Given the description of an element on the screen output the (x, y) to click on. 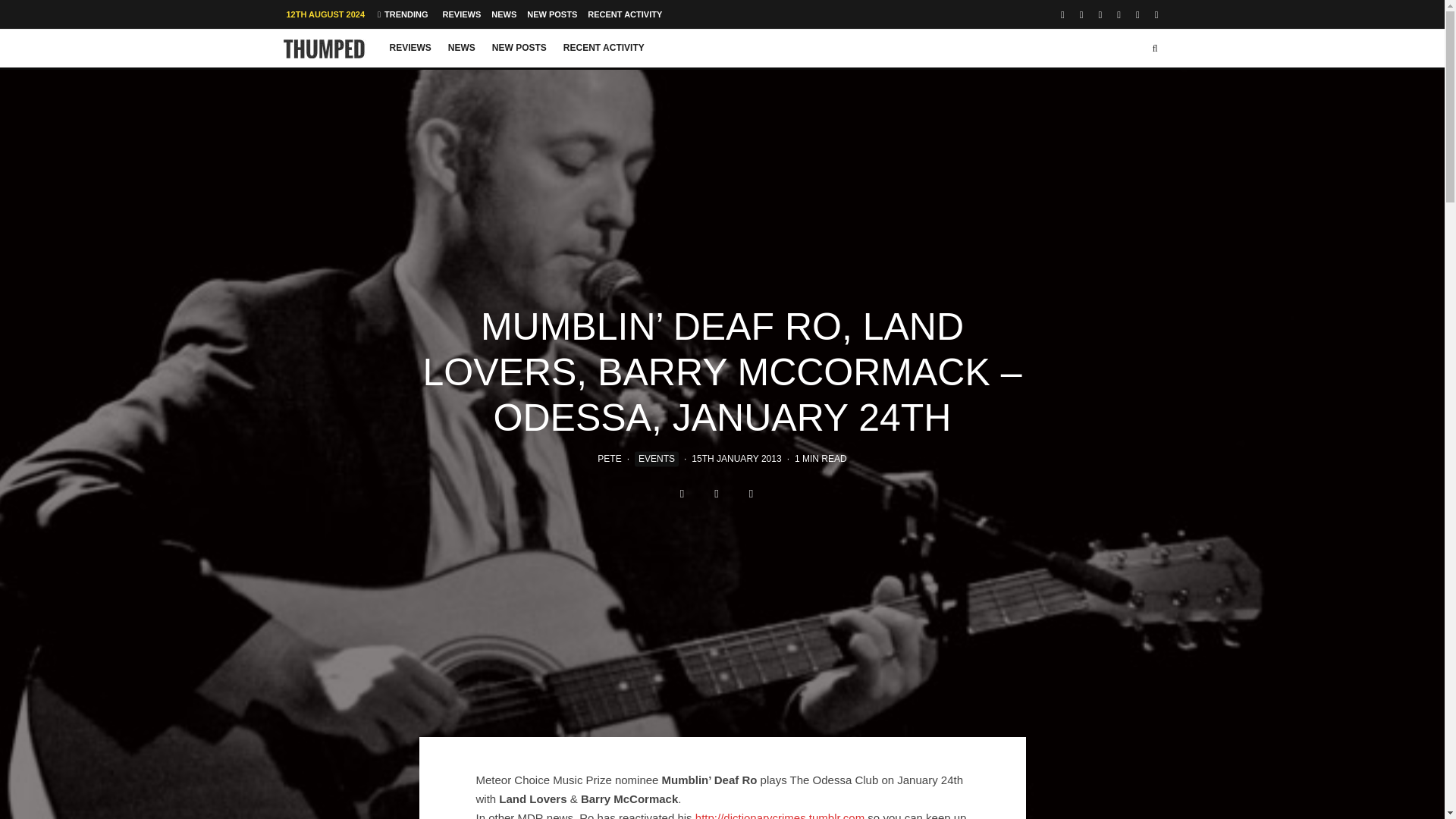
RECENT ACTIVITY (624, 14)
NEW POSTS (551, 14)
TRENDING (402, 14)
RECENT ACTIVITY (603, 48)
NEWS (503, 14)
REVIEWS (409, 48)
PETE (608, 458)
EVENTS (656, 459)
REVIEWS (462, 14)
NEWS (461, 48)
